Given the description of an element on the screen output the (x, y) to click on. 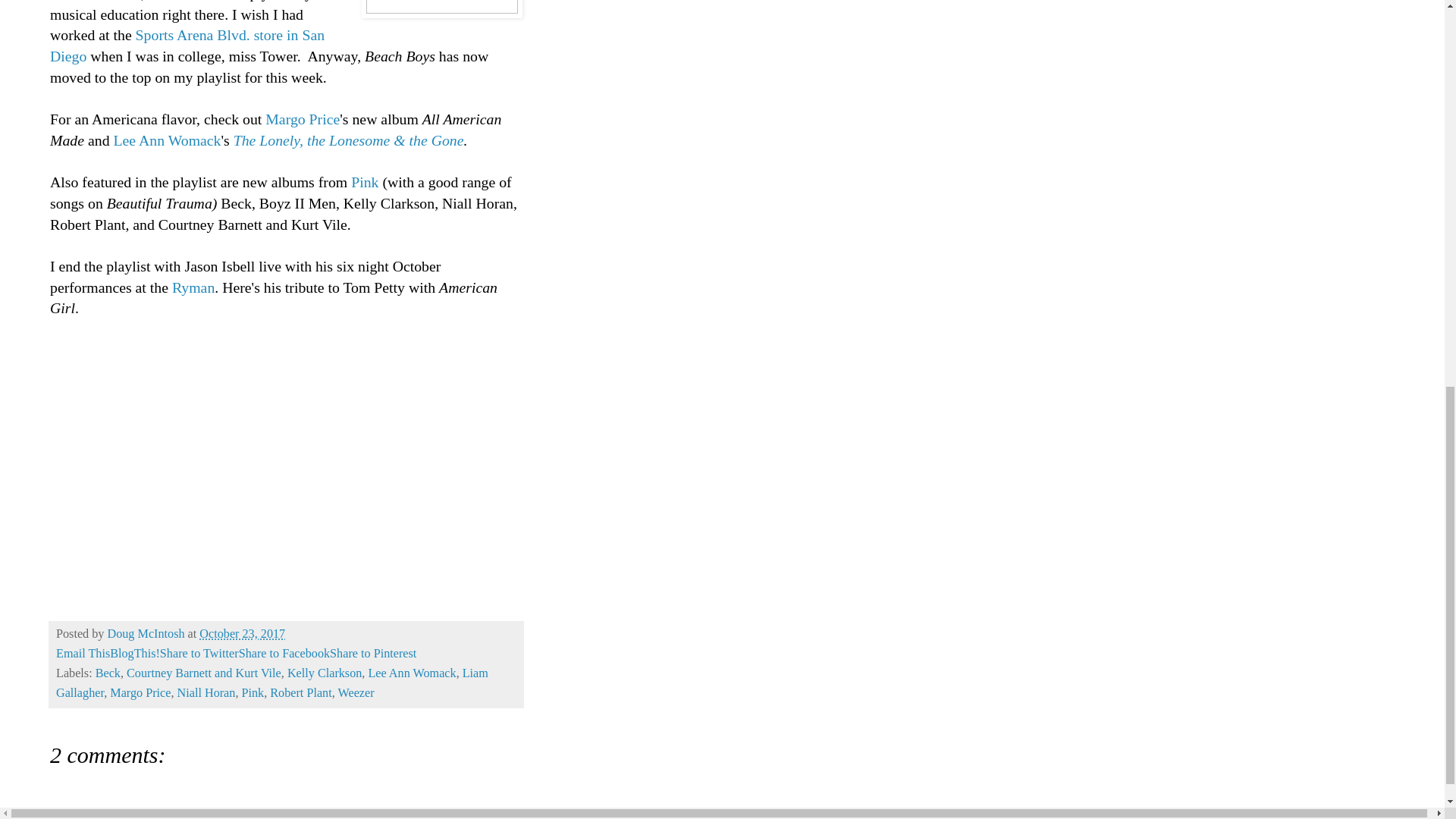
Sports Arena Blvd. store in San Diego (186, 45)
permanent link (242, 633)
BlogThis! (135, 653)
Margo Price (301, 118)
Share to Facebook (284, 653)
author profile (146, 633)
Share to Pinterest (373, 653)
Email This (83, 653)
Lee Ann Womack (167, 139)
Tower Records (95, 0)
Share to Twitter (199, 653)
